Given the description of an element on the screen output the (x, y) to click on. 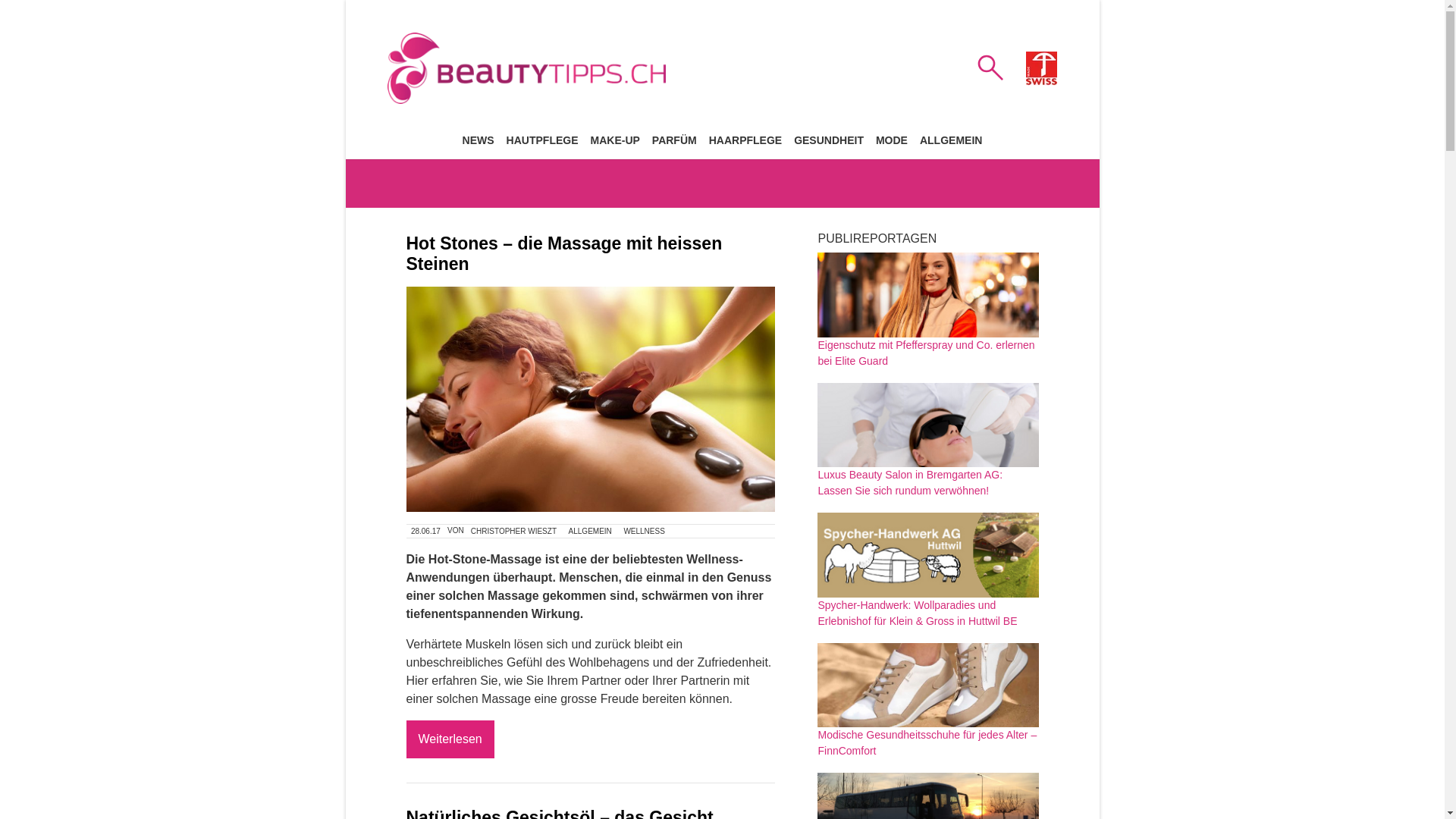
CHRISTOPHER WIESZT Element type: text (513, 530)
Weiterlesen Element type: text (450, 739)
ALLGEMEIN Element type: text (589, 530)
GESUNDHEIT Element type: text (828, 140)
MODE Element type: text (891, 140)
WELLNESS Element type: text (643, 530)
28.06.17 Element type: text (425, 530)
ALLGEMEIN Element type: text (950, 140)
HAARPFLEGE Element type: text (744, 140)
MAKE-UP Element type: text (614, 140)
NEWS Element type: text (478, 140)
HAUTPFLEGE Element type: text (542, 140)
